Given the description of an element on the screen output the (x, y) to click on. 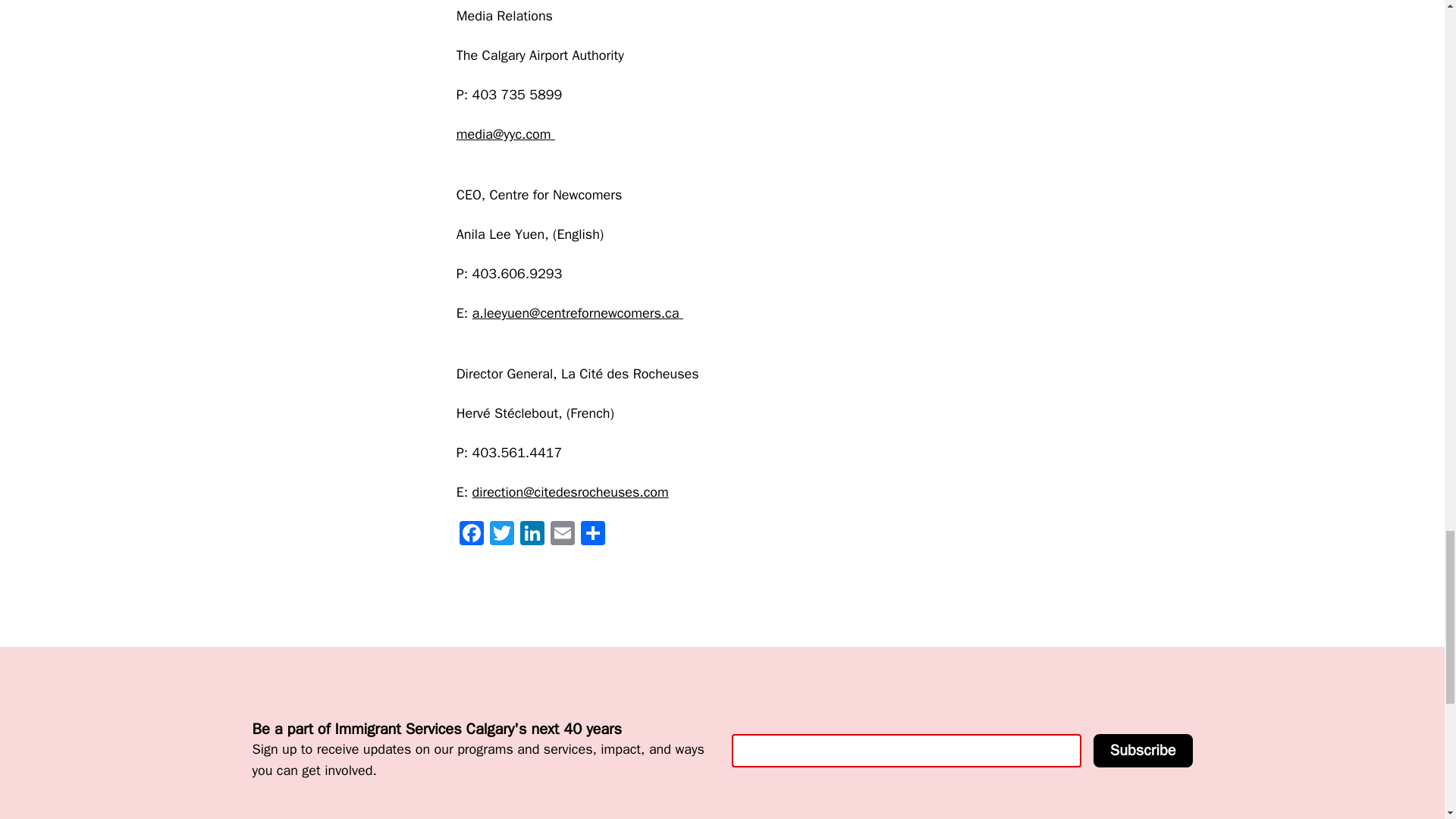
Subscribe (1142, 750)
Twitter (501, 534)
Email (562, 534)
LinkedIn (531, 534)
Facebook (471, 534)
